Given the description of an element on the screen output the (x, y) to click on. 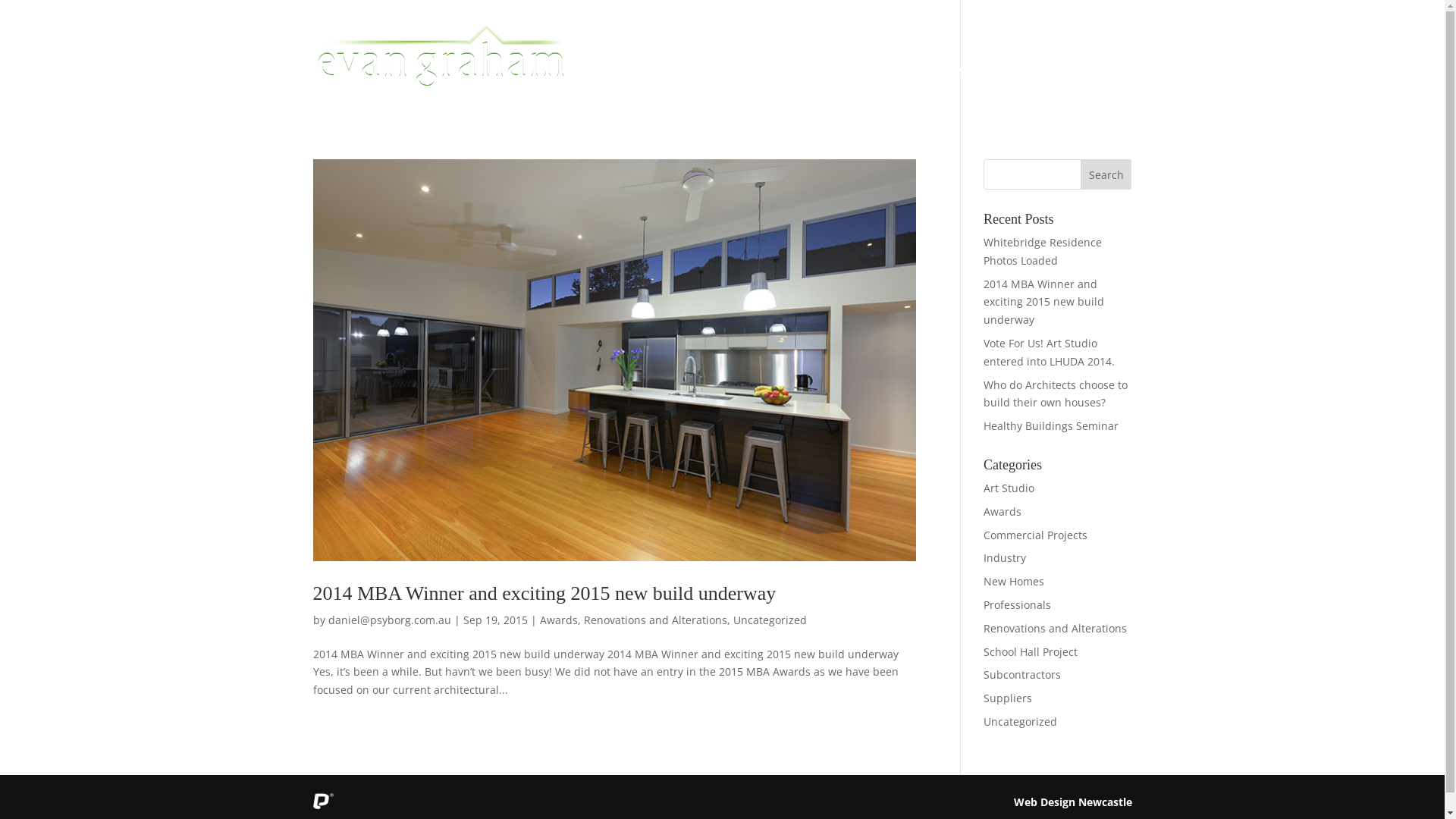
Awards Element type: text (558, 619)
Uncategorized Element type: text (1020, 721)
New Homes Element type: text (1013, 581)
Who do Architects choose to build their own houses? Element type: text (1055, 393)
Art Studio Element type: text (1008, 487)
INDUSTRY TESTIMONIALS Element type: text (957, 90)
Whitebridge Residence Photos Loaded Element type: text (1042, 251)
daniel@psyborg.com.au Element type: text (388, 619)
2014 MBA Winner and exciting 2015 new build underway Element type: text (1043, 301)
Renovations and Alterations Element type: text (1054, 628)
SHOP Element type: text (854, 90)
Healthy Buildings Seminar Element type: text (1050, 425)
2014 MBA Winner and exciting 2015 new build underway Element type: text (543, 593)
Suppliers Element type: text (1007, 697)
Professionals Element type: text (1017, 604)
Search Element type: text (1106, 174)
Industry Element type: text (1004, 557)
PROJECTS Element type: text (788, 90)
ABOUT Element type: text (612, 90)
Uncategorized Element type: text (769, 619)
Commercial Projects Element type: text (1035, 534)
School Hall Project Element type: text (1030, 651)
CONTACT US Element type: text (1078, 90)
Subcontractors Element type: text (1021, 674)
Vote For Us! Art Studio entered into LHUDA 2014. Element type: text (1048, 351)
psyborg Icon Element type: hover (322, 801)
Web Design Newcastle Element type: text (1072, 801)
Renovations and Alterations Element type: text (655, 619)
Awards Element type: text (1002, 511)
PASSIVE HOUSE Element type: text (693, 90)
